Given the description of an element on the screen output the (x, y) to click on. 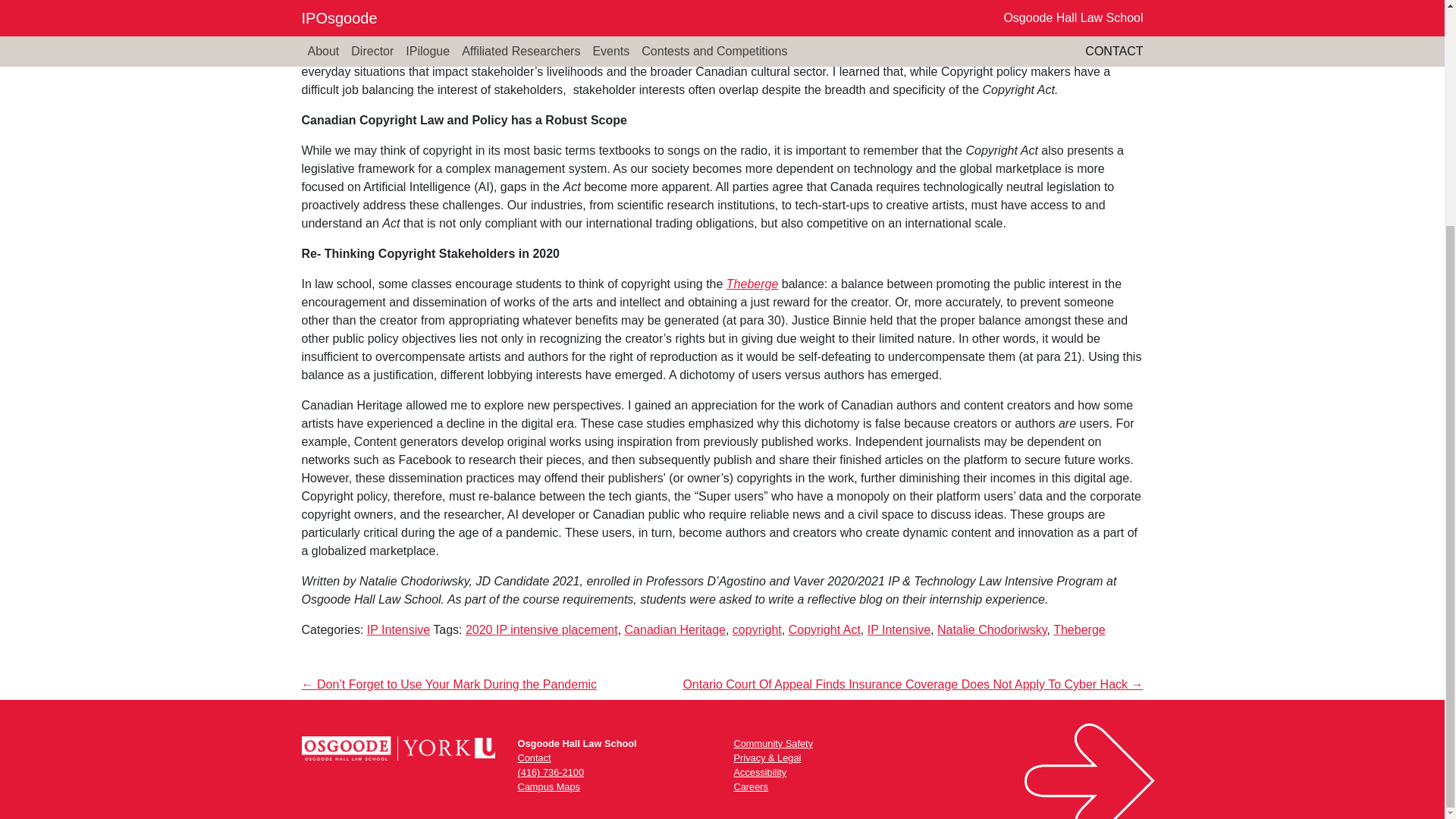
2020 IP intensive placement (541, 629)
Theberge (752, 283)
Canadian Heritage (674, 629)
Copyright Act (824, 629)
Theberge (1078, 629)
Accessibility (760, 772)
Natalie Chodoriwsky (991, 629)
Campus Maps (547, 786)
Community Safety (773, 743)
Careers (750, 786)
IP Intensive (898, 629)
IP Intensive (397, 629)
copyright (756, 629)
Contact (533, 757)
